Given the description of an element on the screen output the (x, y) to click on. 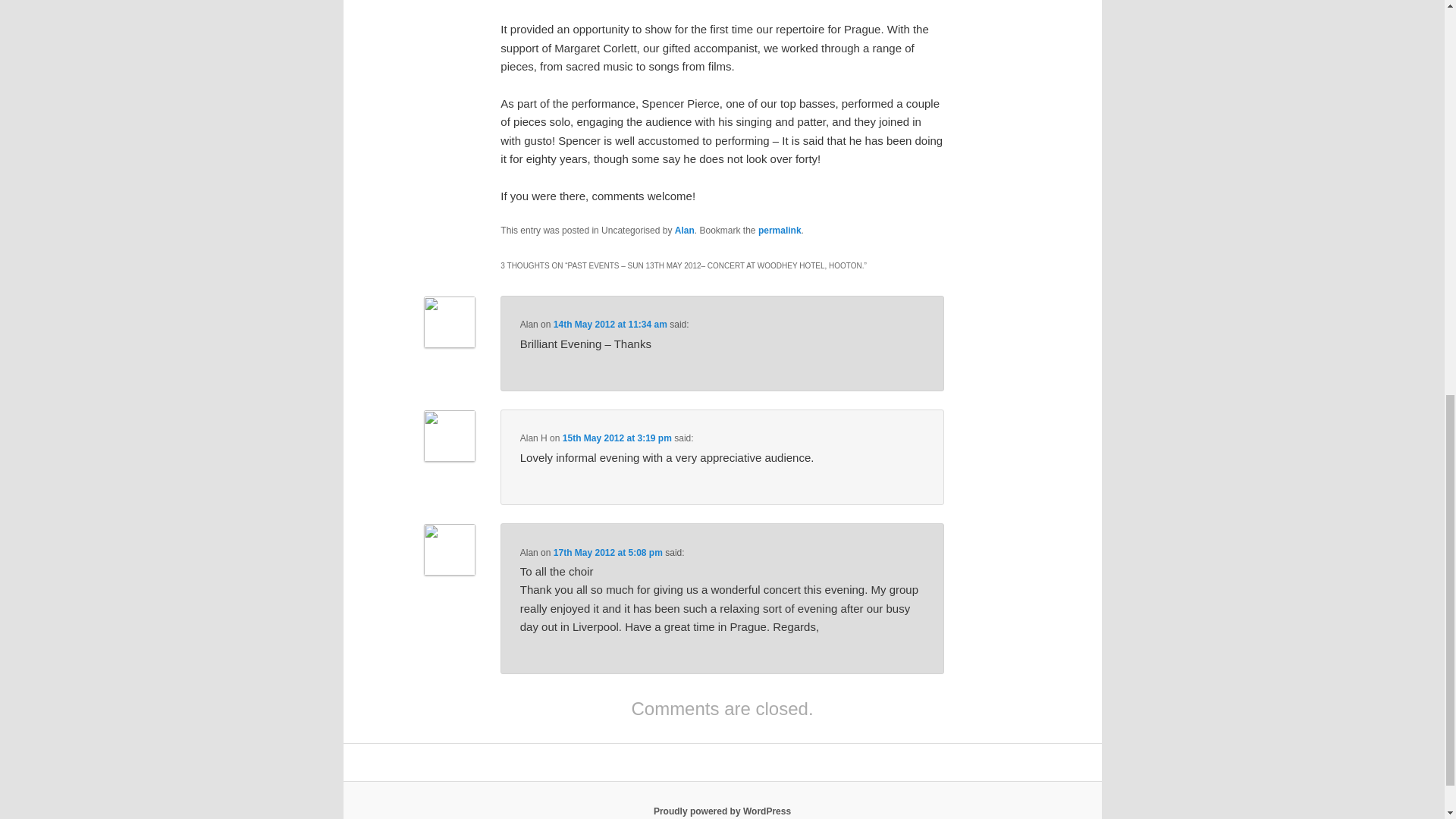
14th May 2012 at 11:34 am (609, 324)
Alan (684, 230)
Semantic Personal Publishing Platform (721, 810)
permalink (780, 230)
17th May 2012 at 5:08 pm (607, 552)
Proudly powered by WordPress (721, 810)
15th May 2012 at 3:19 pm (616, 438)
